Given the description of an element on the screen output the (x, y) to click on. 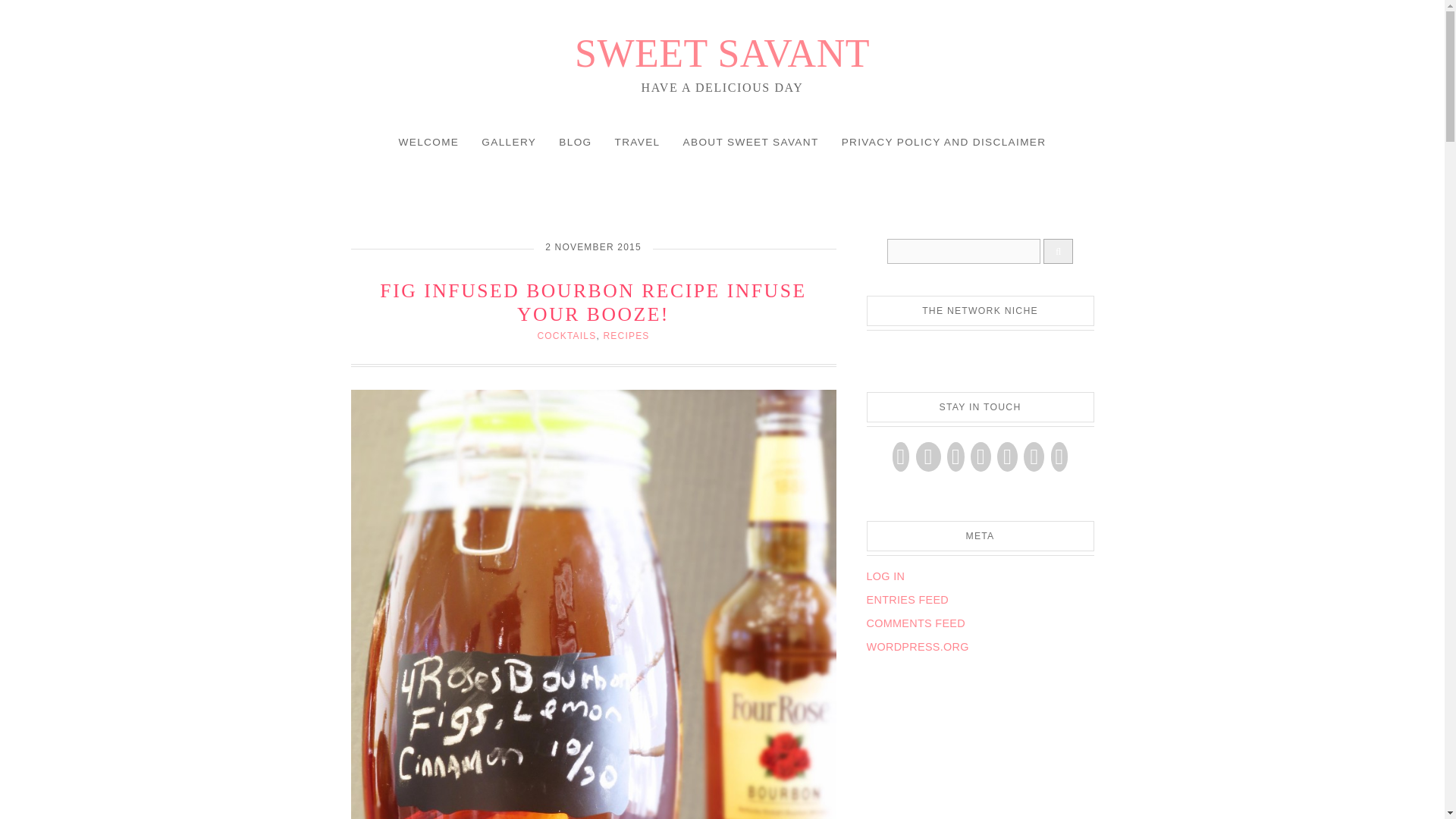
TRAVEL (637, 142)
COMMENTS FEED (914, 623)
Search (963, 251)
ENTRIES FEED (907, 599)
Fig Infused Bourbon Recipe Infuse your booze! (593, 302)
SWEET SAVANT (722, 53)
RECIPES (625, 335)
FIG INFUSED BOURBON RECIPE INFUSE YOUR BOOZE! (593, 302)
COCKTAILS (566, 335)
ABOUT SWEET SAVANT (750, 142)
